Given the description of an element on the screen output the (x, y) to click on. 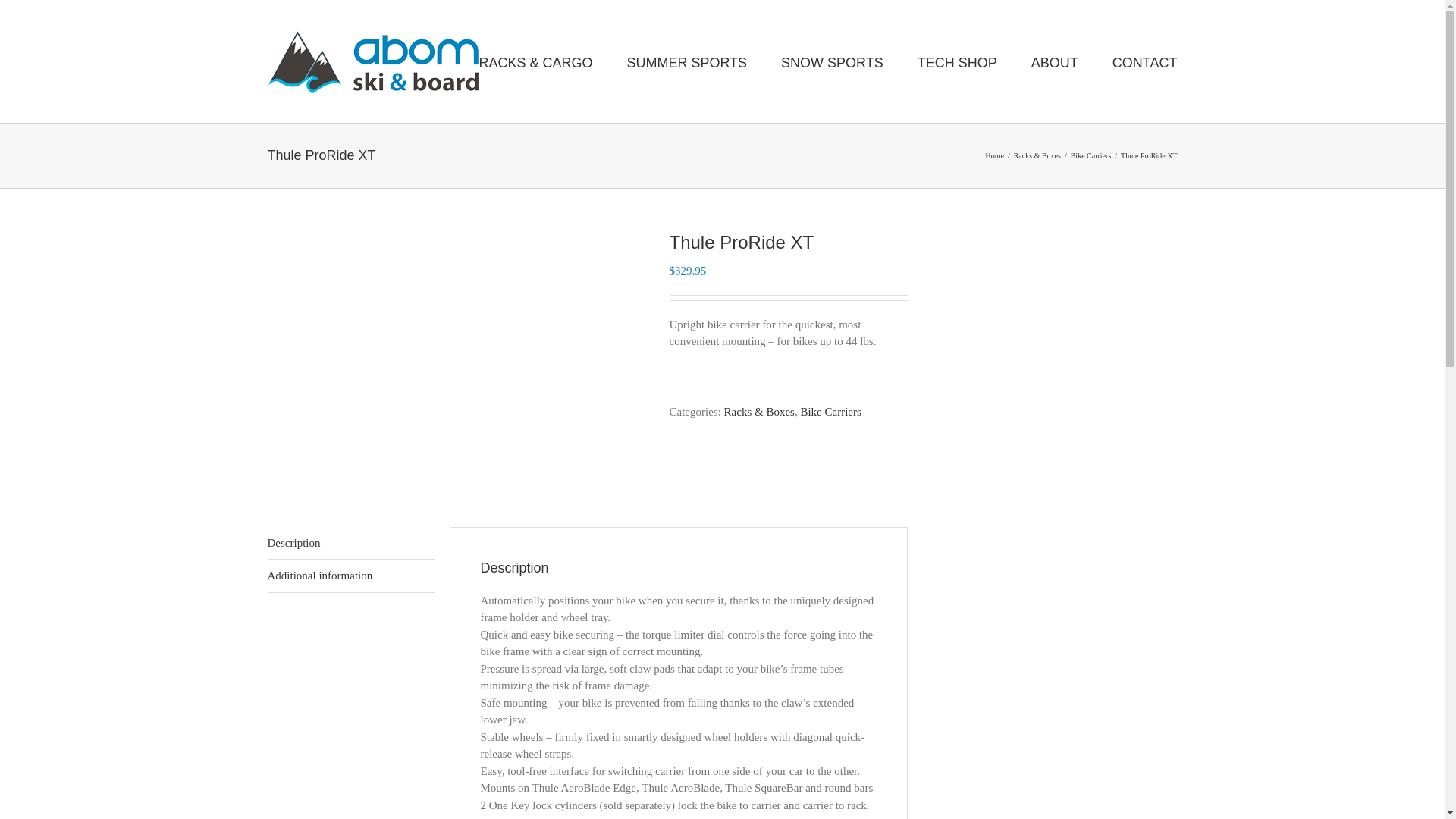
SUMMER SPORTS (686, 61)
